Given the description of an element on the screen output the (x, y) to click on. 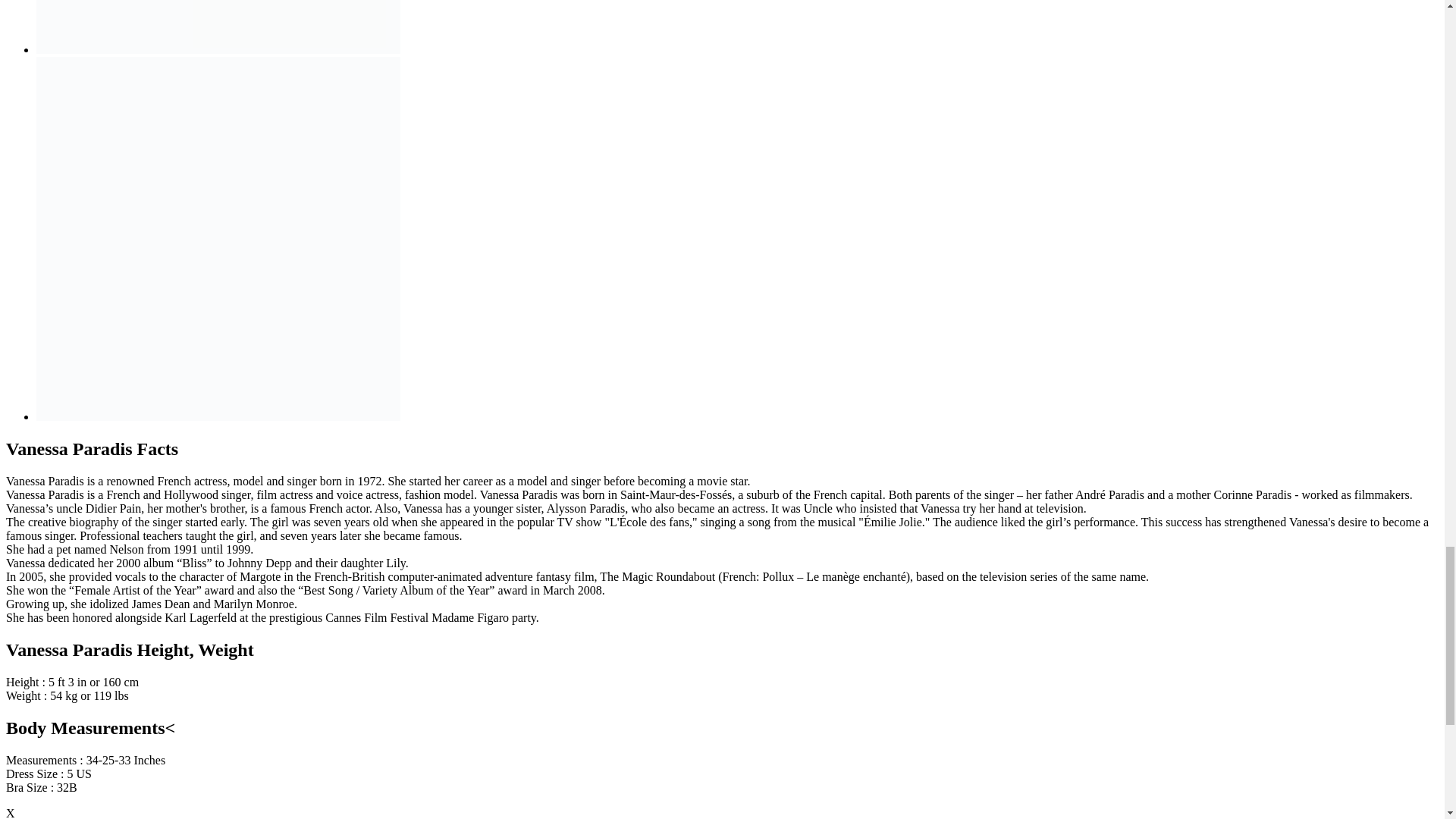
Vanessa Paradis2 (218, 27)
Vanessa Paradis3 (218, 238)
